Given the description of an element on the screen output the (x, y) to click on. 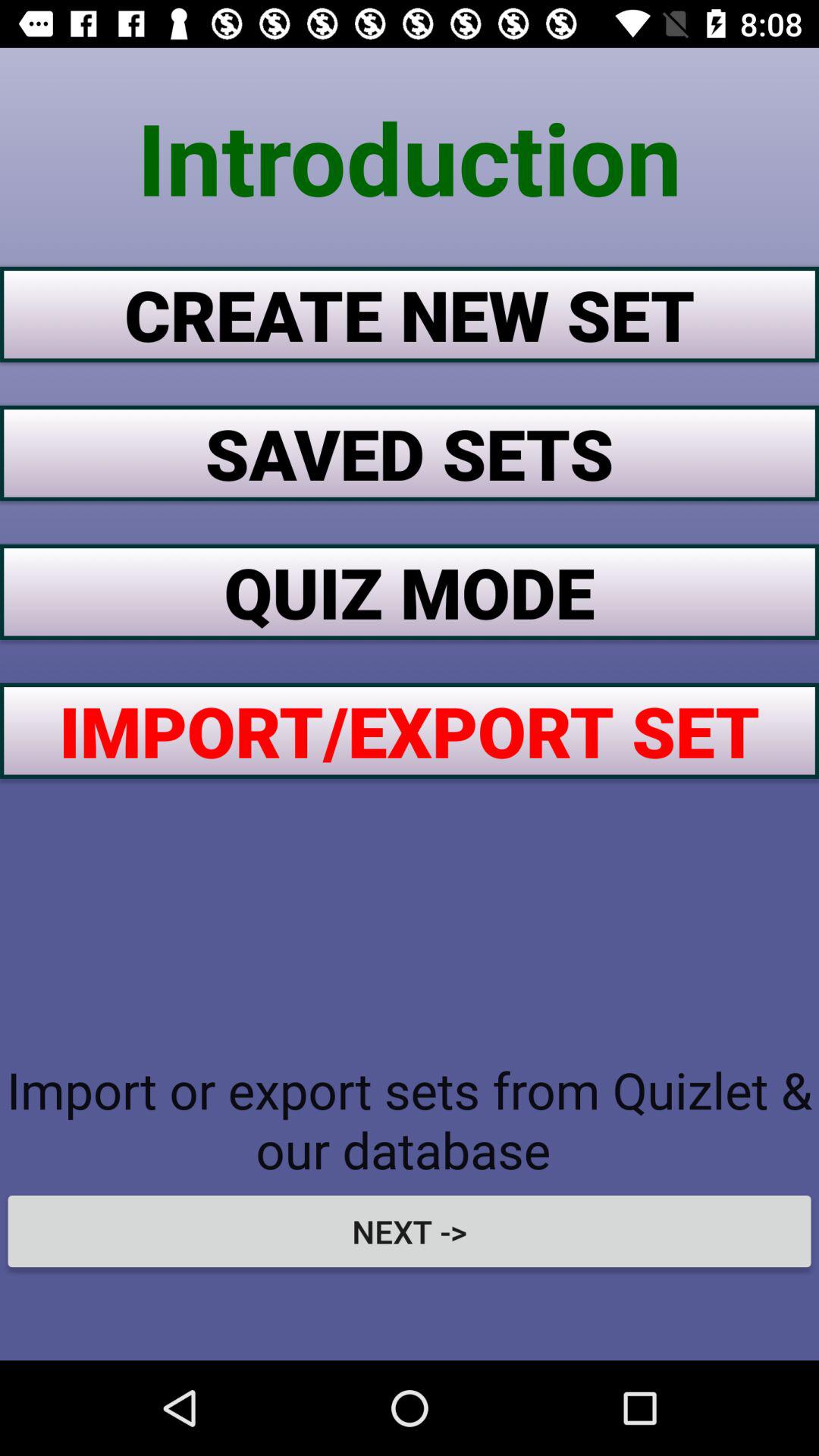
press the app below the import or export icon (409, 1231)
